Given the description of an element on the screen output the (x, y) to click on. 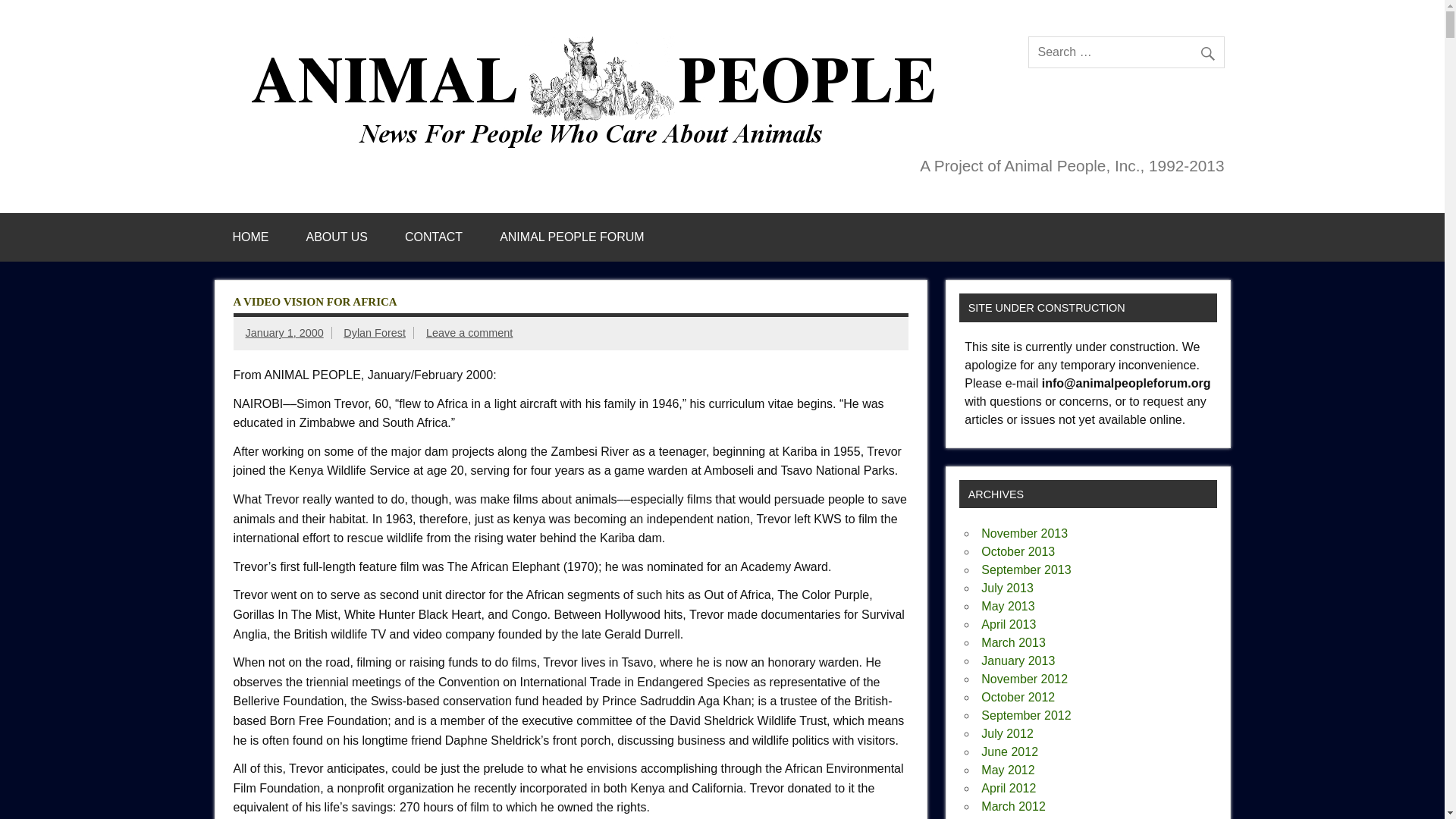
ANIMAL PEOPLE NEWS (598, 42)
HOME (250, 236)
October 2012 (1017, 697)
January 2013 (1017, 660)
July 2013 (1007, 587)
April 2013 (1008, 624)
March 2013 (1013, 642)
January 1, 2000 (284, 332)
November 2013 (1024, 533)
September 2013 (1025, 569)
June 2012 (1009, 751)
April 2012 (1008, 788)
September 2012 (1025, 715)
July 2012 (1007, 733)
8:54 pm (284, 332)
